Given the description of an element on the screen output the (x, y) to click on. 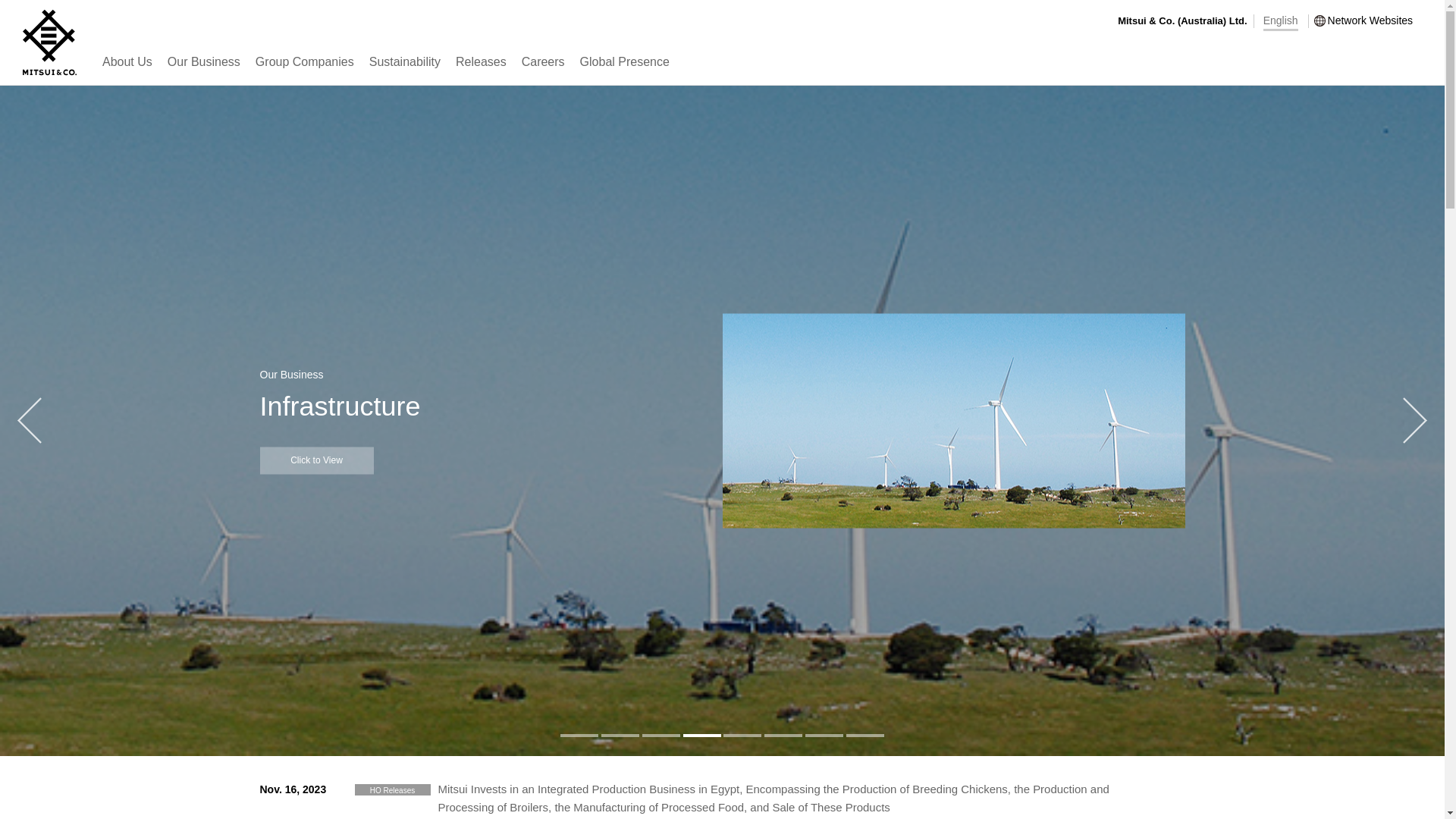
Prev Element type: text (30, 420)
  Element type: text (824, 734)
English Element type: text (1280, 20)
Group Companies Element type: text (304, 70)
  Element type: text (620, 734)
Releases Element type: text (481, 70)
Next Element type: text (1413, 420)
  Element type: text (783, 734)
Our Business Element type: text (203, 70)
  Element type: text (742, 734)
Careers Element type: text (543, 70)
  Element type: text (702, 734)
Global Presence Element type: text (624, 70)
  Element type: text (865, 734)
  Element type: text (661, 734)
Sustainability Element type: text (404, 70)
About Us Element type: text (127, 70)
Mitsui & Co. (Australia) Ltd. Element type: text (1181, 20)
Network Websites Element type: text (1363, 20)
  Element type: text (579, 734)
